Given the description of an element on the screen output the (x, y) to click on. 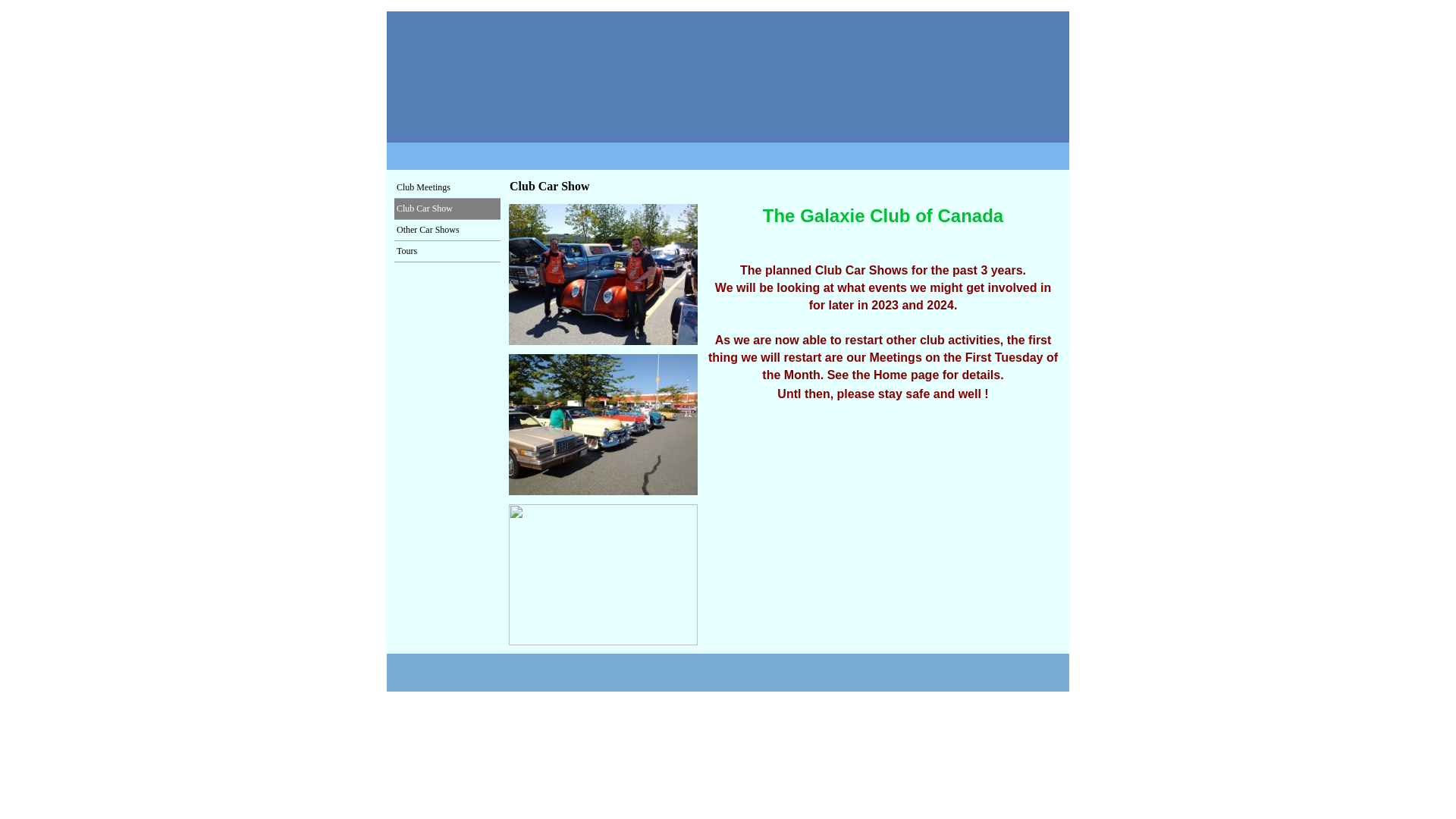
Other Car Shows (447, 230)
Tours (447, 250)
Club Meetings (447, 187)
Club Car Show (447, 209)
